Given the description of an element on the screen output the (x, y) to click on. 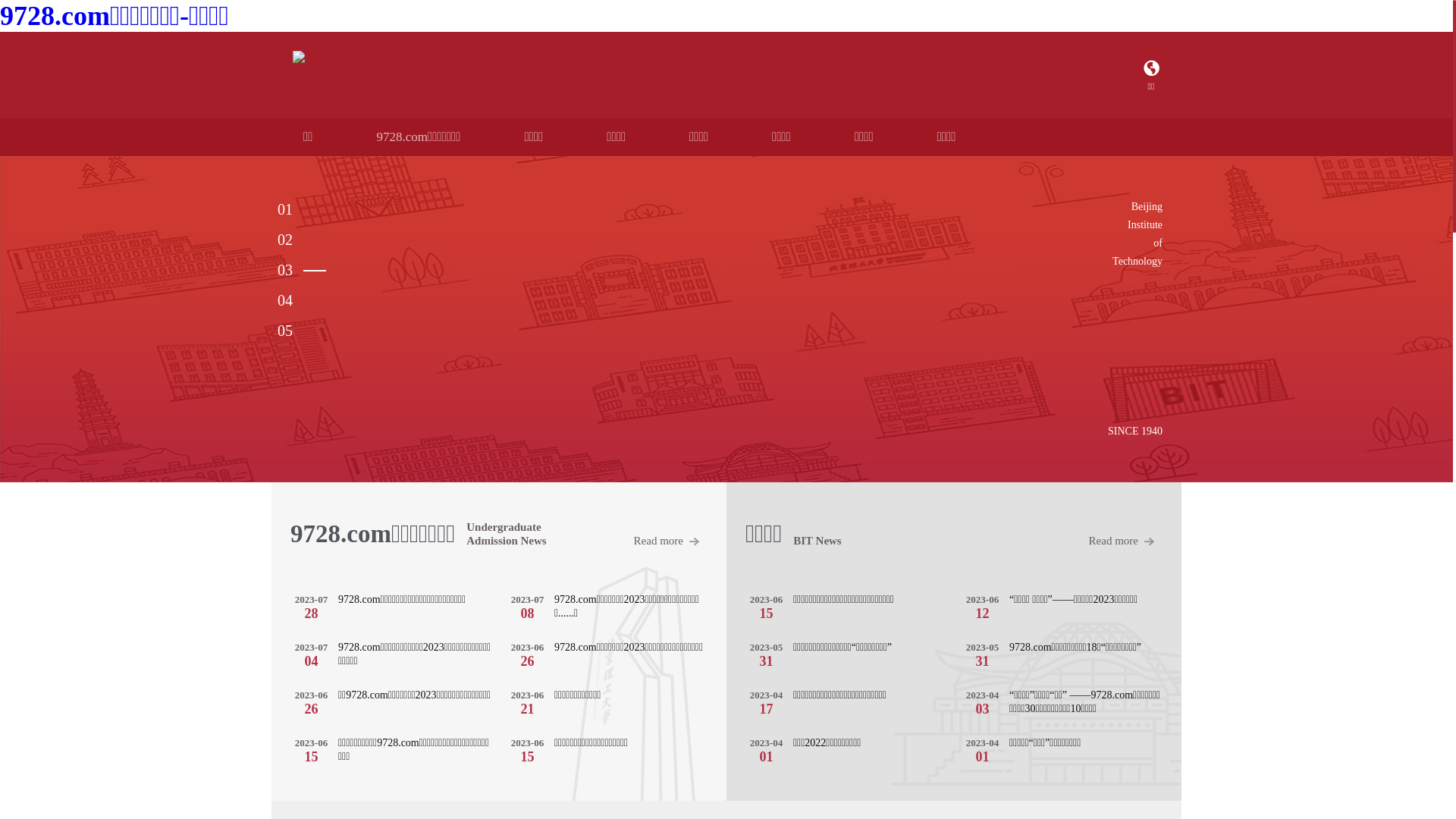
Beijing
Institute
of
Technology
SINCE 1940 Element type: text (726, 319)
Read more Element type: text (1125, 533)
Read more Element type: text (670, 533)
